Given the description of an element on the screen output the (x, y) to click on. 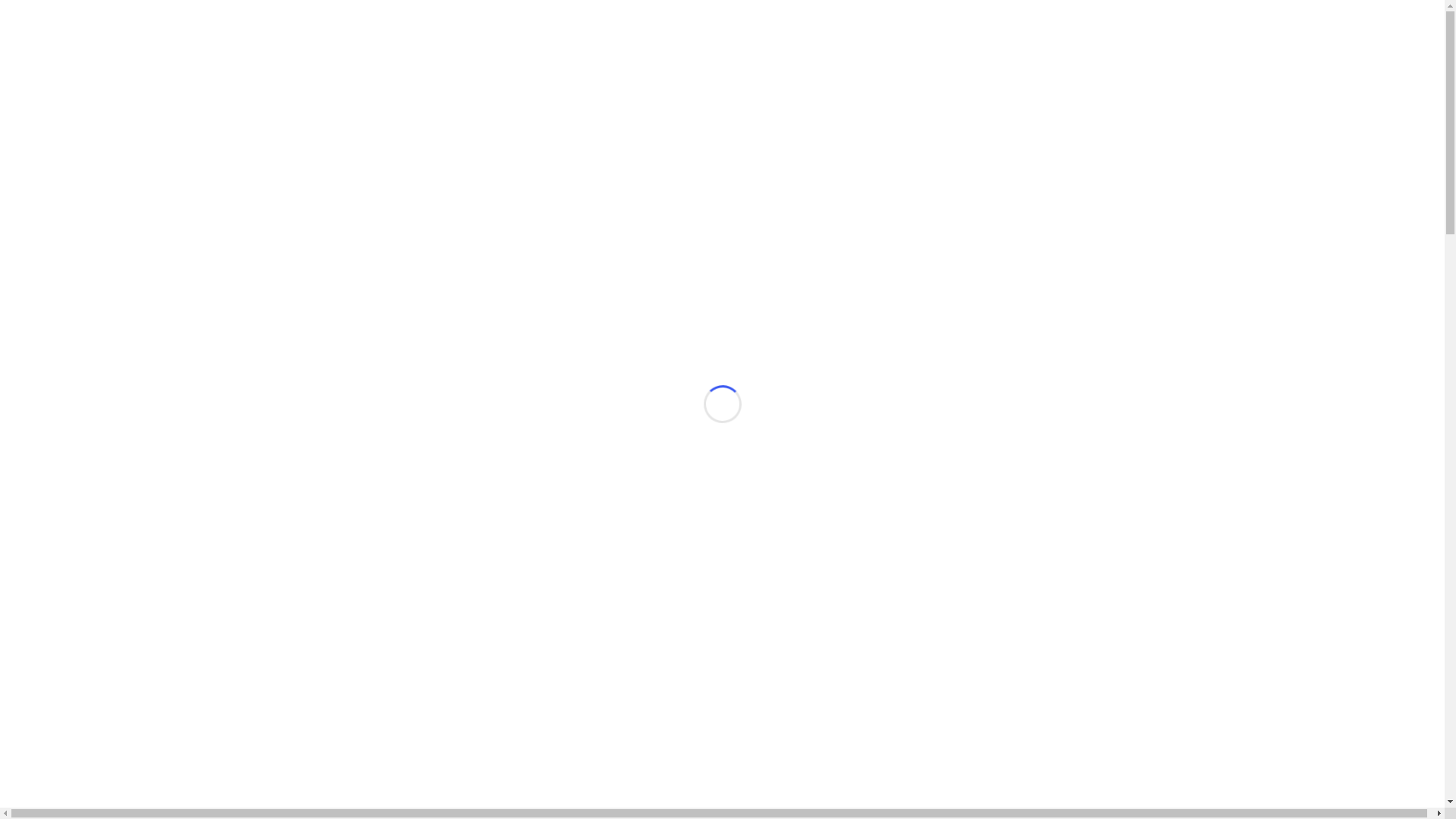
Checkout Element type: text (59, 106)
Shop Element type: text (48, 65)
Cart Element type: text (46, 92)
Shop Element type: text (48, 232)
Fashion Secrets Revealed Element type: text (68, 25)
Home Element type: text (50, 219)
My account Element type: text (65, 119)
Categories Element type: text (61, 78)
Home Element type: text (50, 51)
Skip to content Element type: text (42, 12)
